Given the description of an element on the screen output the (x, y) to click on. 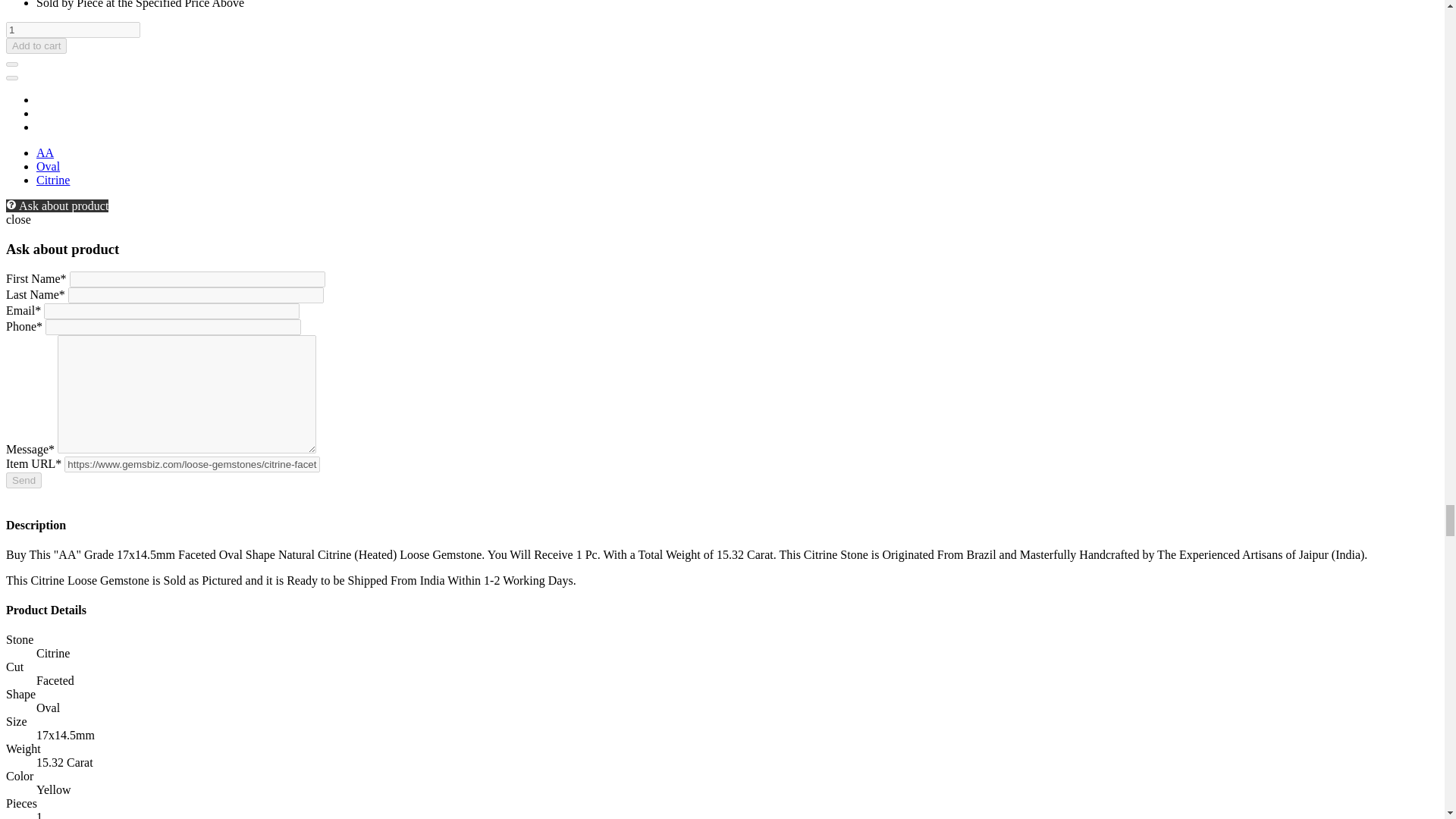
Send (23, 480)
Add to wishlist (11, 64)
1 (72, 29)
Add to compare (11, 78)
